Given the description of an element on the screen output the (x, y) to click on. 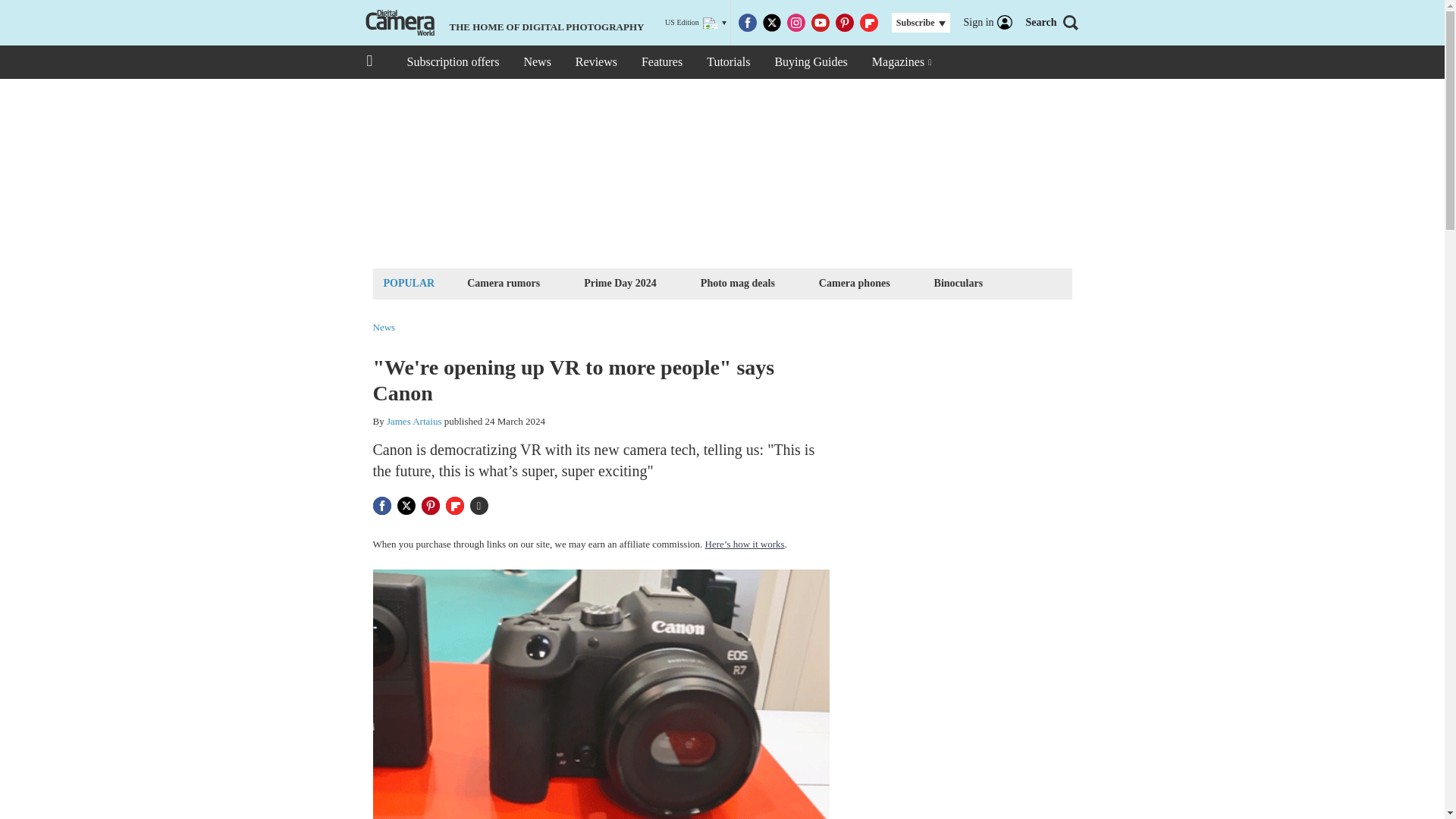
Camera rumors (502, 282)
Binoculars (958, 282)
Features (661, 61)
Tutorials (727, 61)
Photo mag deals (737, 282)
News (536, 61)
Subscription offers (452, 61)
Prime Day 2024 (620, 282)
Buying Guides (810, 61)
Reviews (595, 61)
News (384, 327)
THE HOME OF DIGITAL PHOTOGRAPHY (503, 22)
Camera phones (854, 282)
US Edition (695, 22)
